Given the description of an element on the screen output the (x, y) to click on. 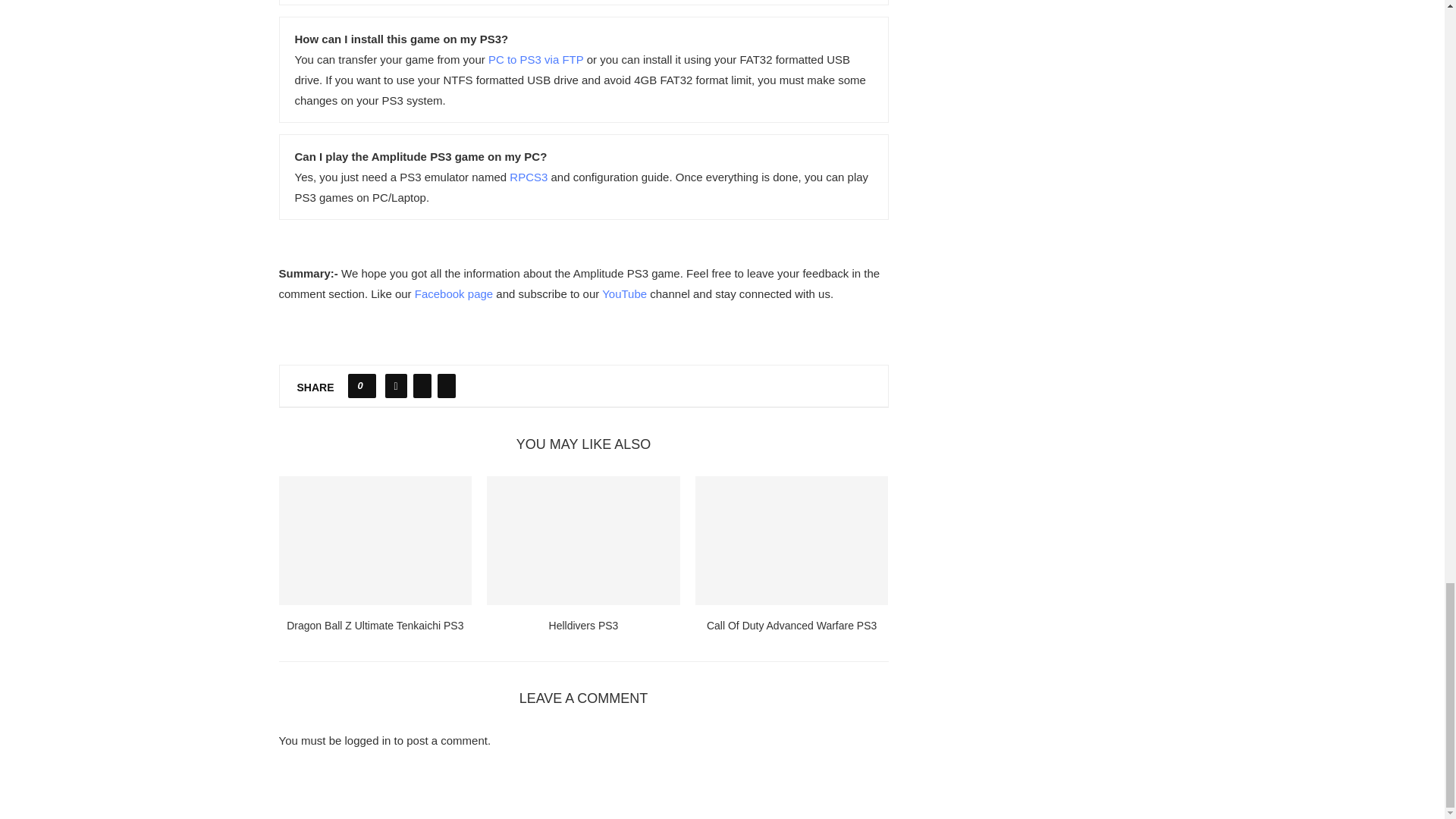
PC to PS3 via FTP (535, 59)
YouTube (624, 293)
Helldivers PS3 (582, 540)
RPCS3 (528, 176)
Call Of Duty Advanced Warfare PS3 (791, 540)
Facebook page (453, 293)
Dragon Ball Z Ultimate Tenkaichi PS3 (375, 540)
